Given the description of an element on the screen output the (x, y) to click on. 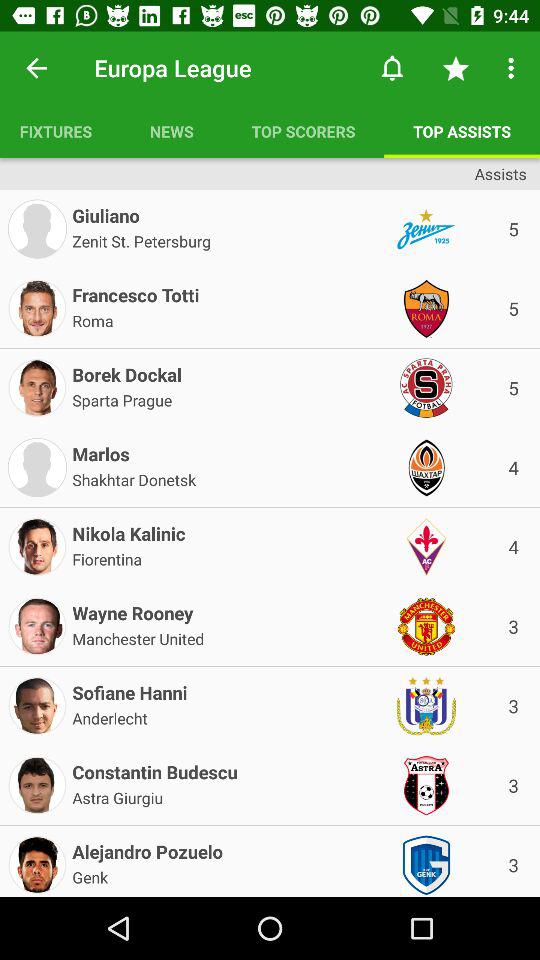
tap the sparta prague (122, 398)
